Given the description of an element on the screen output the (x, y) to click on. 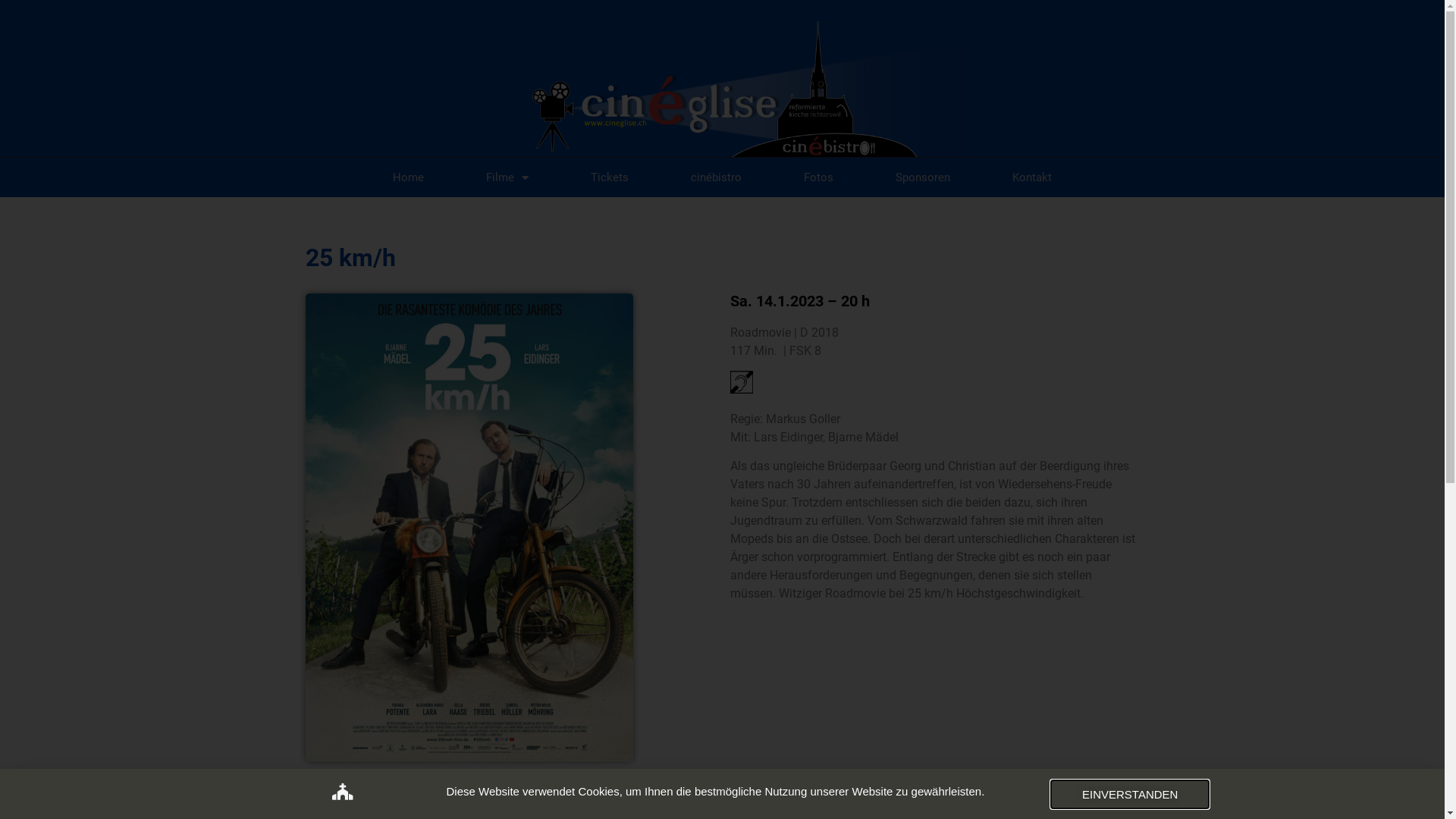
EINVERSTANDEN Element type: text (1129, 794)
Kontakt Element type: text (1031, 177)
Fotos Element type: text (818, 177)
Tickets Element type: text (609, 177)
Filme Element type: text (507, 177)
Sponsoren Element type: text (922, 177)
Home Element type: text (408, 177)
LOGO-HOMEPAGE Element type: hover (721, 88)
